Given the description of an element on the screen output the (x, y) to click on. 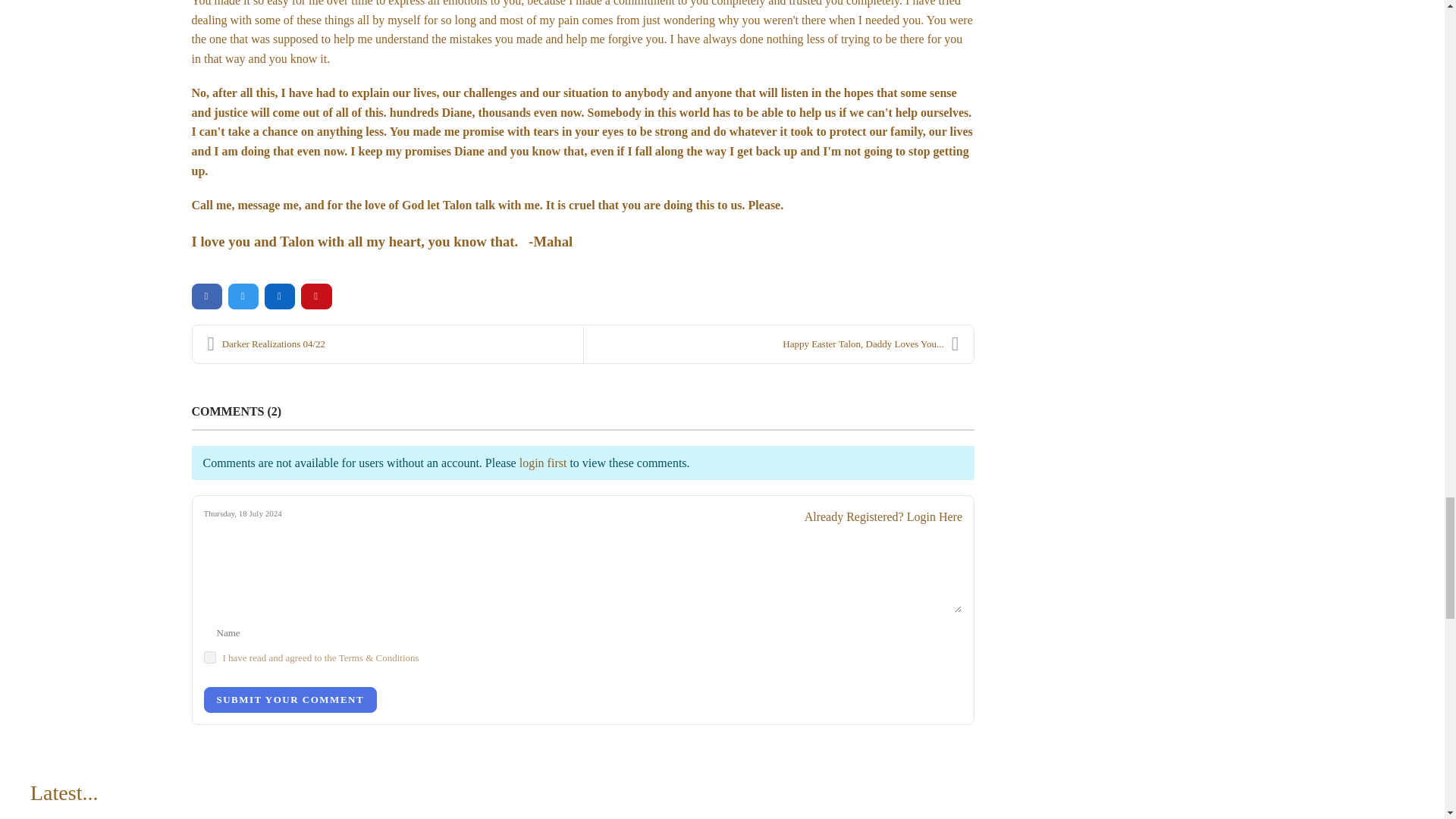
login first (543, 462)
SUBMIT YOUR COMMENT (290, 699)
Login Here (934, 516)
Happy Easter Talon, Daddy Loves You... (778, 344)
